Given the description of an element on the screen output the (x, y) to click on. 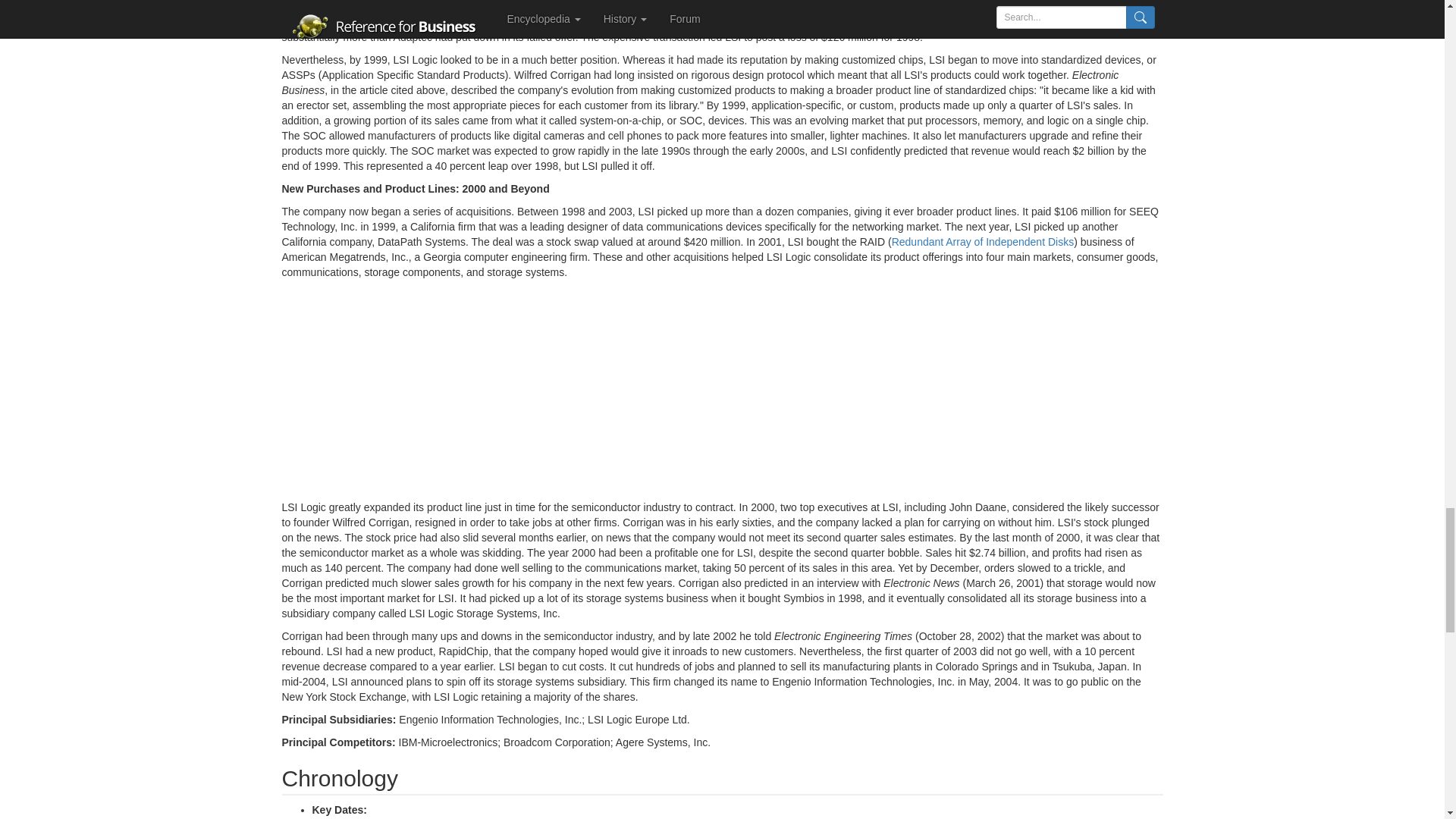
Redundant Array of Independent Disks (982, 241)
